Given the description of an element on the screen output the (x, y) to click on. 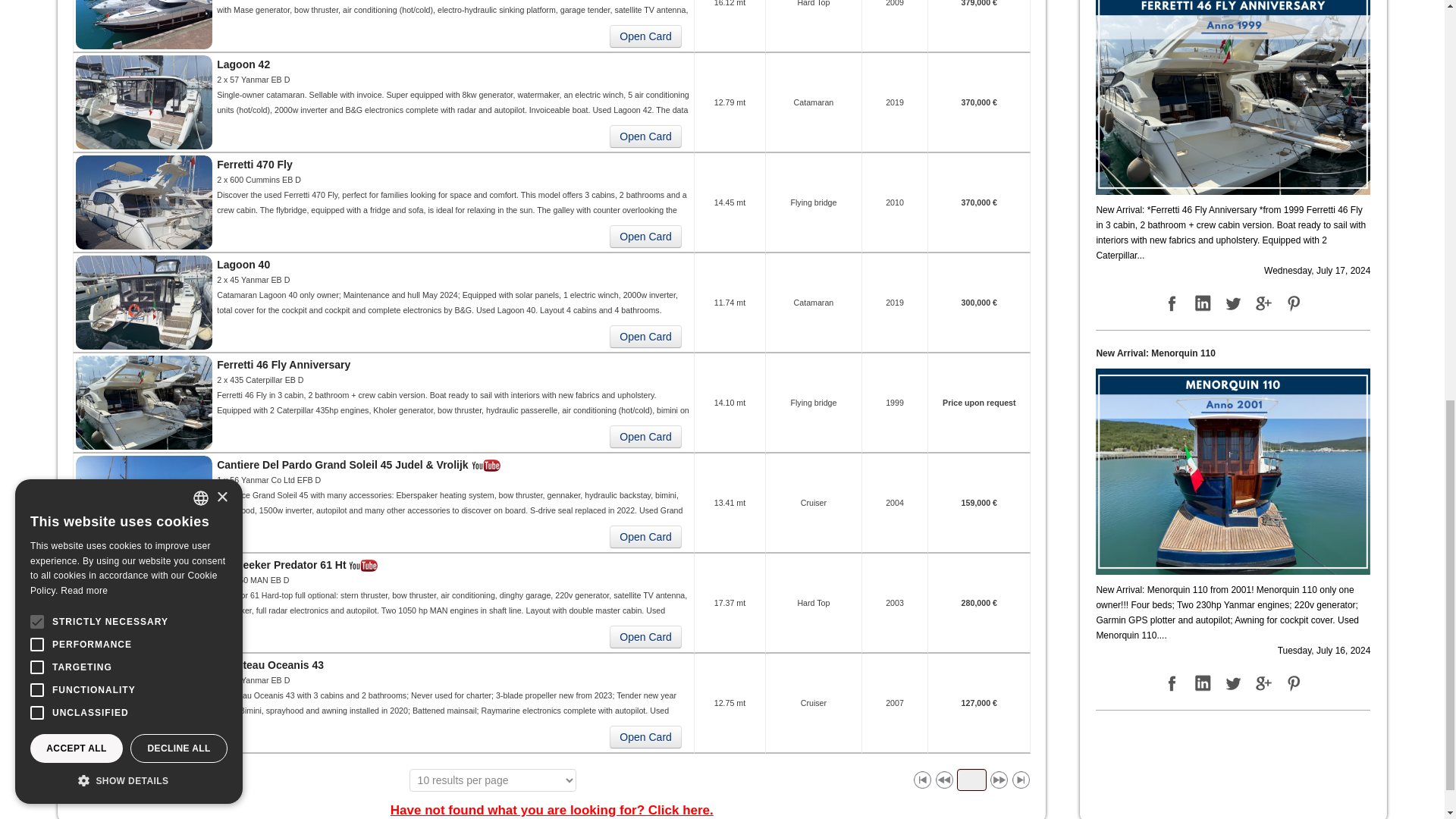
New Arrival: Menorquin 110 (1233, 470)
New Arrival: Ferretti 46 Fly Anniversary (1233, 91)
